Given the description of an element on the screen output the (x, y) to click on. 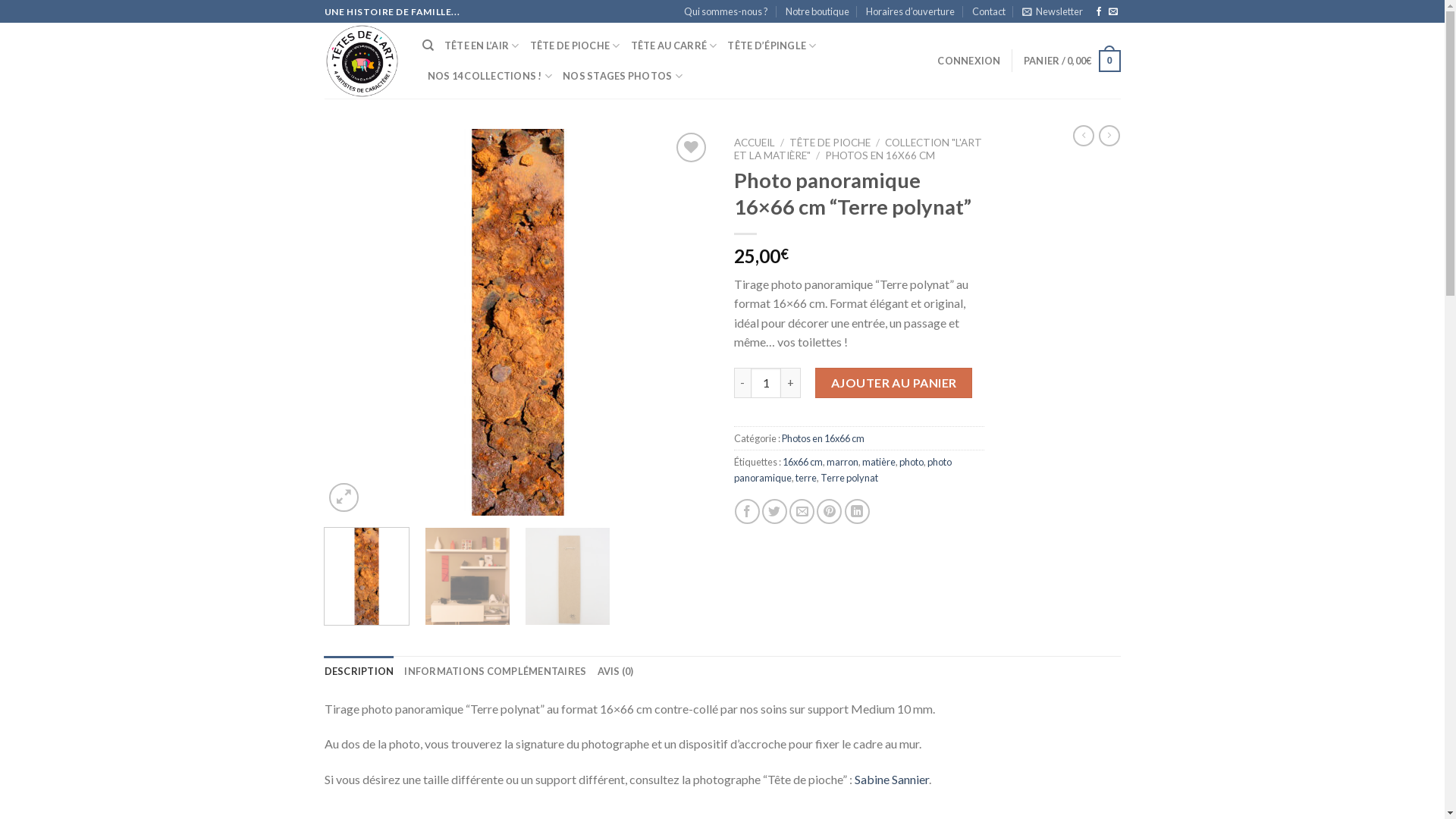
Newsletter Element type: text (1052, 11)
16x66 cm Element type: text (802, 461)
Sabine Sannier Element type: text (890, 778)
PHOTOS EN 16X66 CM Element type: text (880, 155)
Nous suivre sur Facebook Element type: hover (1098, 11)
NOS 14 COLLECTIONS ! Element type: text (489, 75)
Zoom Element type: hover (343, 497)
ACCUEIL Element type: text (754, 142)
marron Element type: text (842, 461)
Partager sur Twitter Element type: hover (774, 511)
NOS STAGES PHOTOS Element type: text (622, 75)
Notre boutique Element type: text (817, 11)
Photos en 16x66 cm Element type: text (822, 438)
CONNEXION Element type: text (968, 60)
photo panoramique Element type: text (842, 469)
Nous envoyer un email Element type: hover (1112, 11)
Contact Element type: text (988, 11)
AJOUTER AU PANIER Element type: text (893, 382)
AVIS (0) Element type: text (615, 670)
Partager sur Facebook Element type: hover (746, 511)
Envoyer par mail Element type: hover (801, 511)
Photo panoramique 16 x 66 "Terre polynat" Element type: hover (517, 321)
Qty Element type: hover (765, 382)
Share on LinkedIn Element type: hover (856, 511)
photo Element type: text (911, 461)
Epingler sur Pinterest Element type: hover (828, 511)
terre Element type: text (804, 477)
DESCRIPTION Element type: text (359, 670)
Terre polynat Element type: text (849, 477)
Qui sommes-nous ? Element type: text (726, 11)
